Given the description of an element on the screen output the (x, y) to click on. 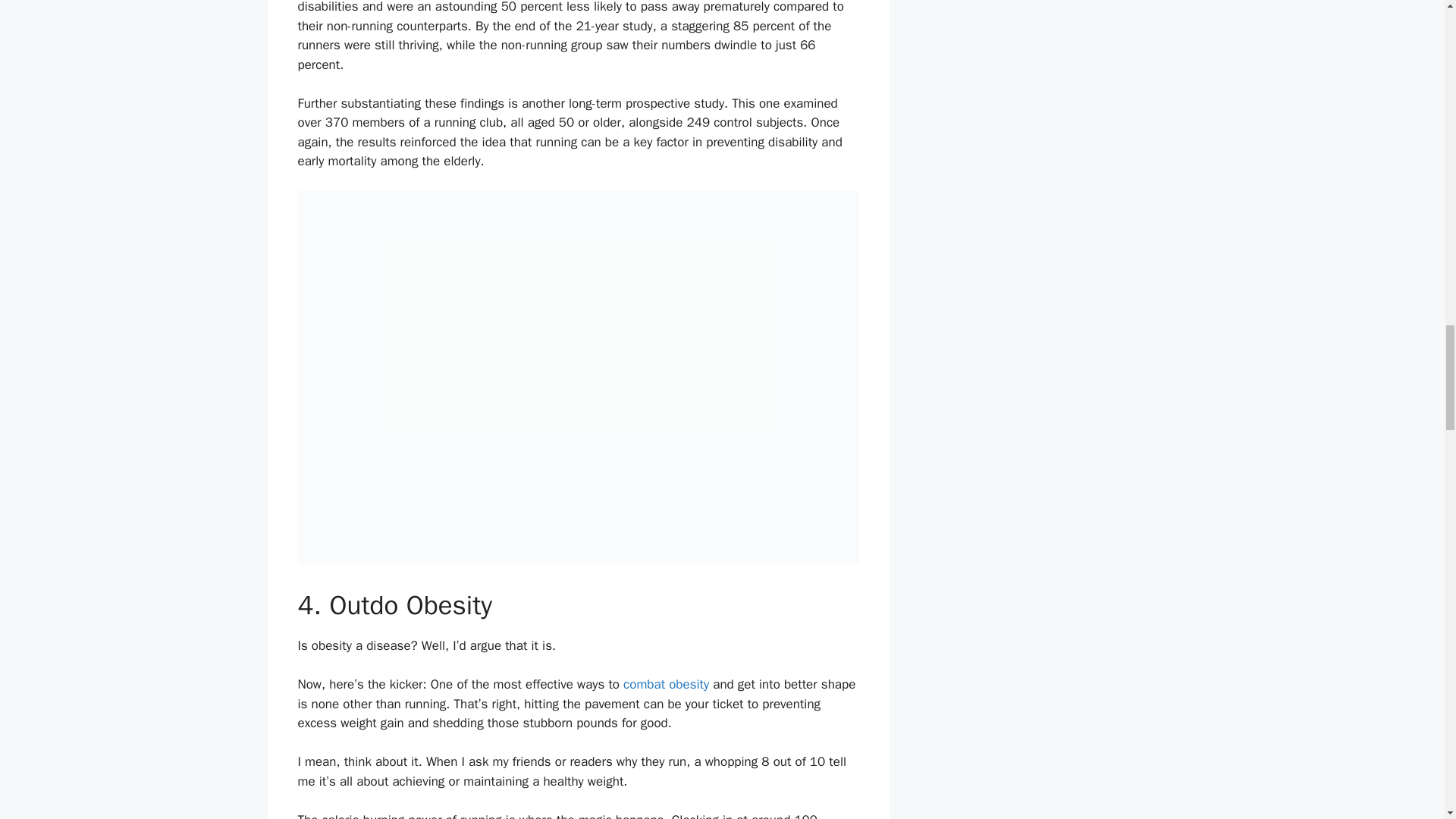
combat obesity (666, 684)
